Given the description of an element on the screen output the (x, y) to click on. 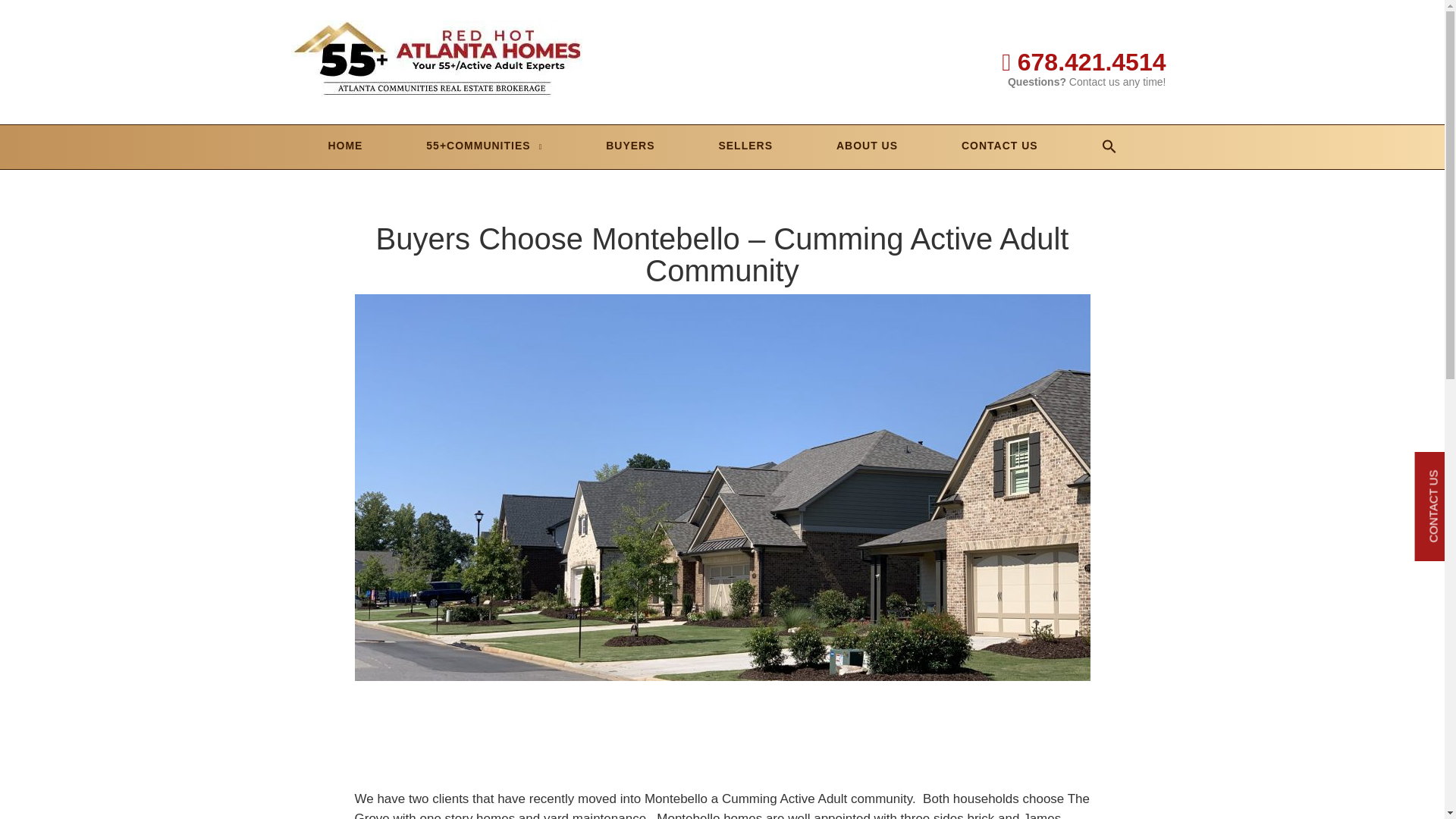
SELLERS (745, 146)
BUYERS (629, 146)
ABOUT US (866, 146)
CONTACT US (999, 146)
Send (722, 814)
